Given the description of an element on the screen output the (x, y) to click on. 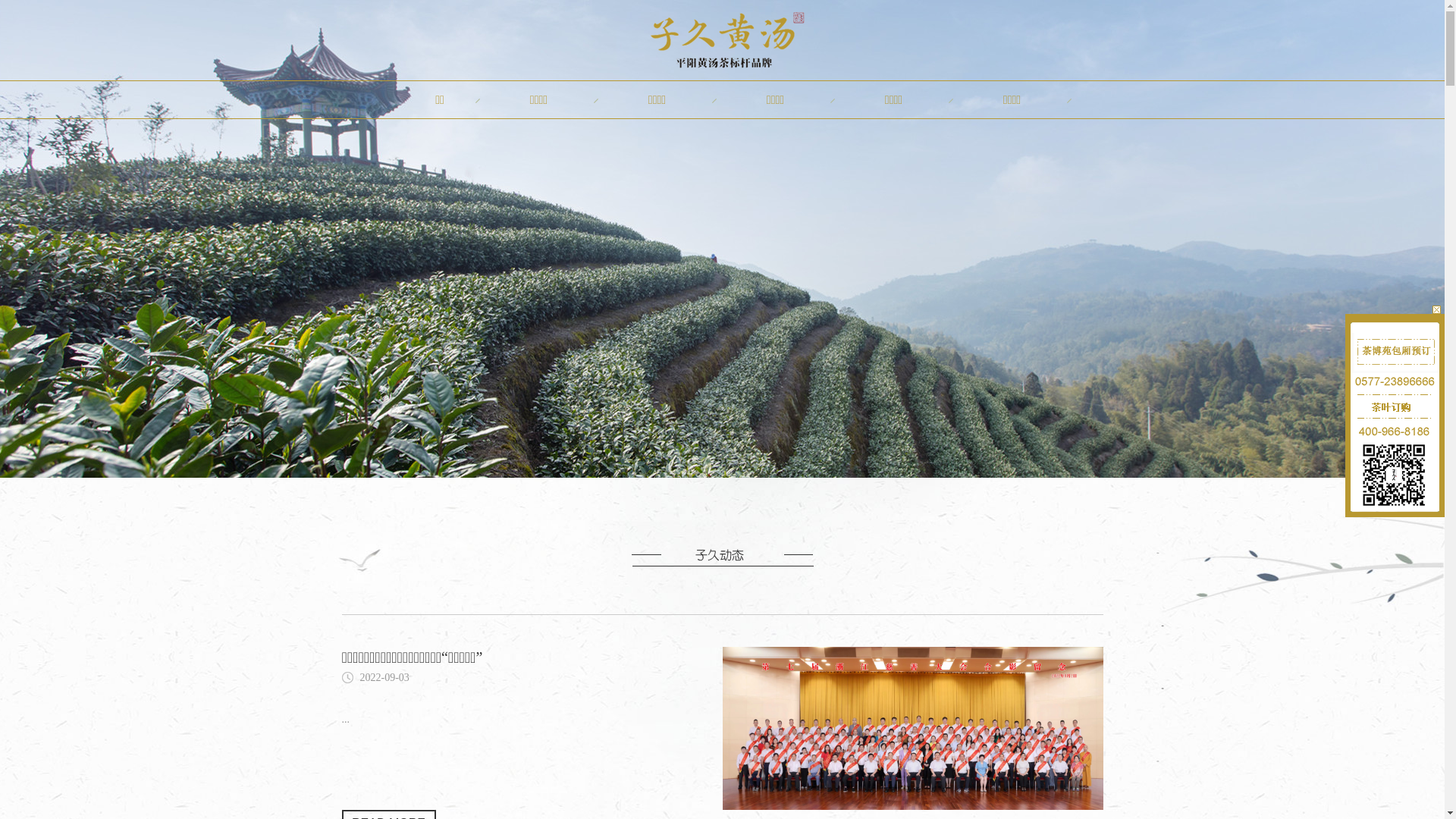
... Element type: text (345, 718)
